Given the description of an element on the screen output the (x, y) to click on. 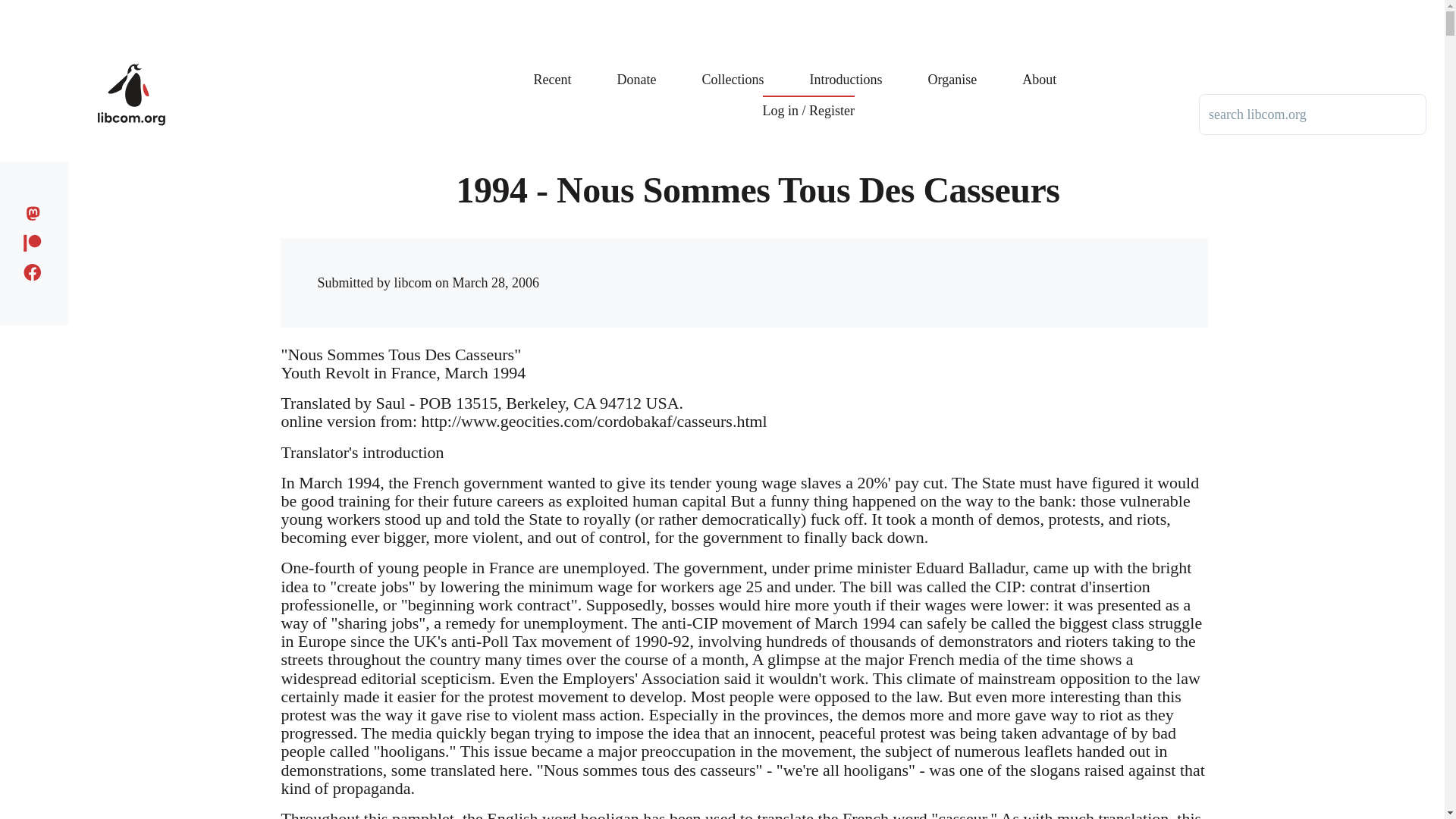
Follow us on Mastodon (36, 210)
Skip to main content (595, 6)
Introductions (845, 68)
Share to Facebook (916, 268)
Share to Twitter (946, 268)
Share to Reddit (977, 268)
Support us on patreon (36, 239)
Organise (952, 68)
Like us on facebook (36, 269)
Collections (732, 68)
